Given the description of an element on the screen output the (x, y) to click on. 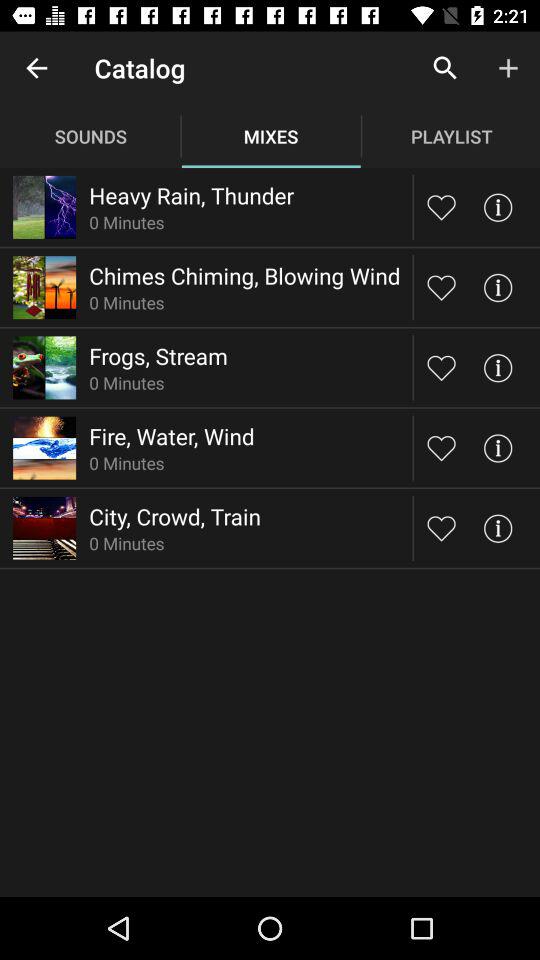
information (498, 206)
